Given the description of an element on the screen output the (x, y) to click on. 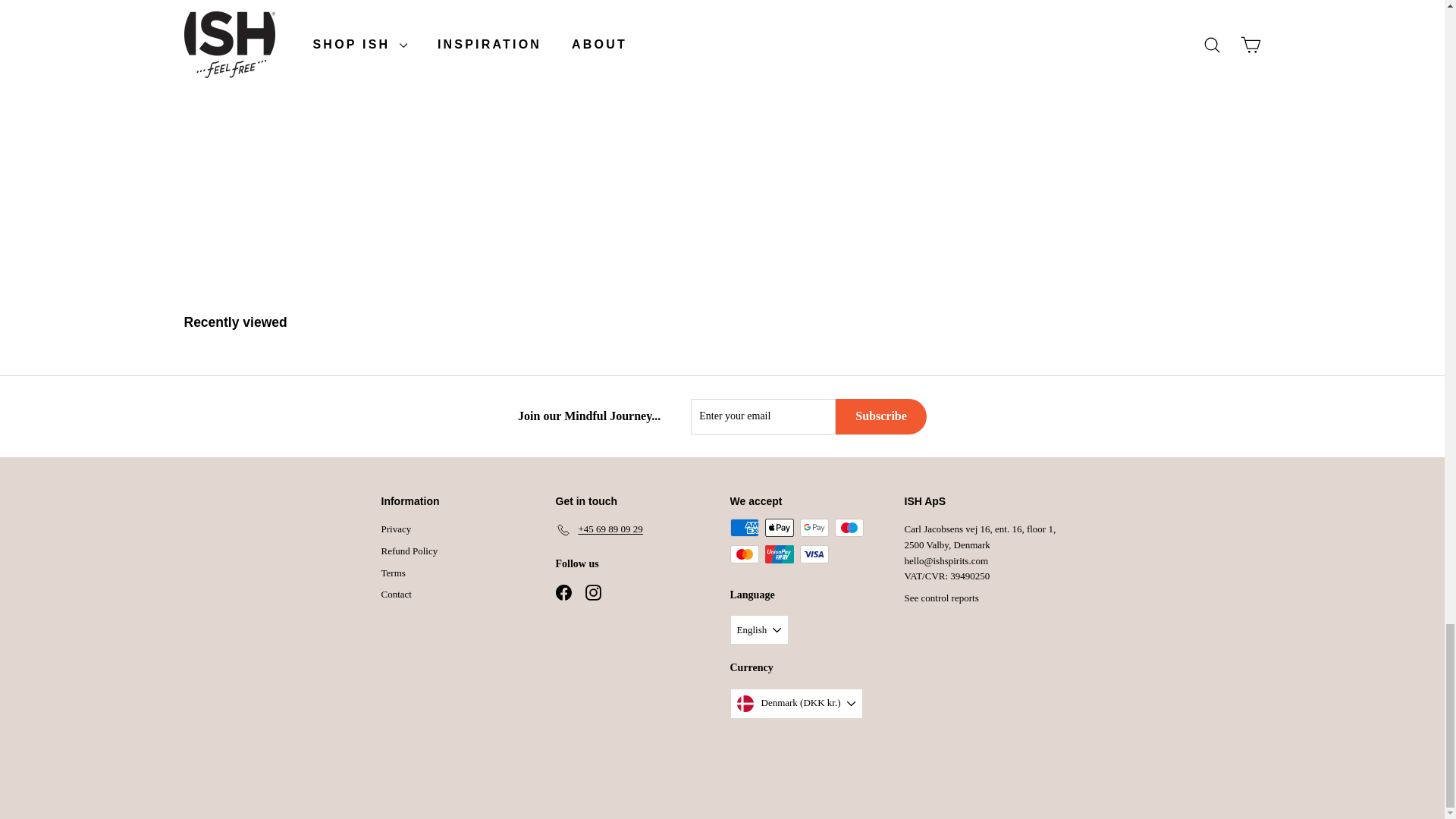
Google Pay (813, 527)
American Express (743, 527)
Apple Pay (778, 527)
ISH Spirits on Facebook (562, 591)
ISH Spirits on Instagram (593, 591)
instagram (593, 592)
ISH Spirits (285, 4)
